Given the description of an element on the screen output the (x, y) to click on. 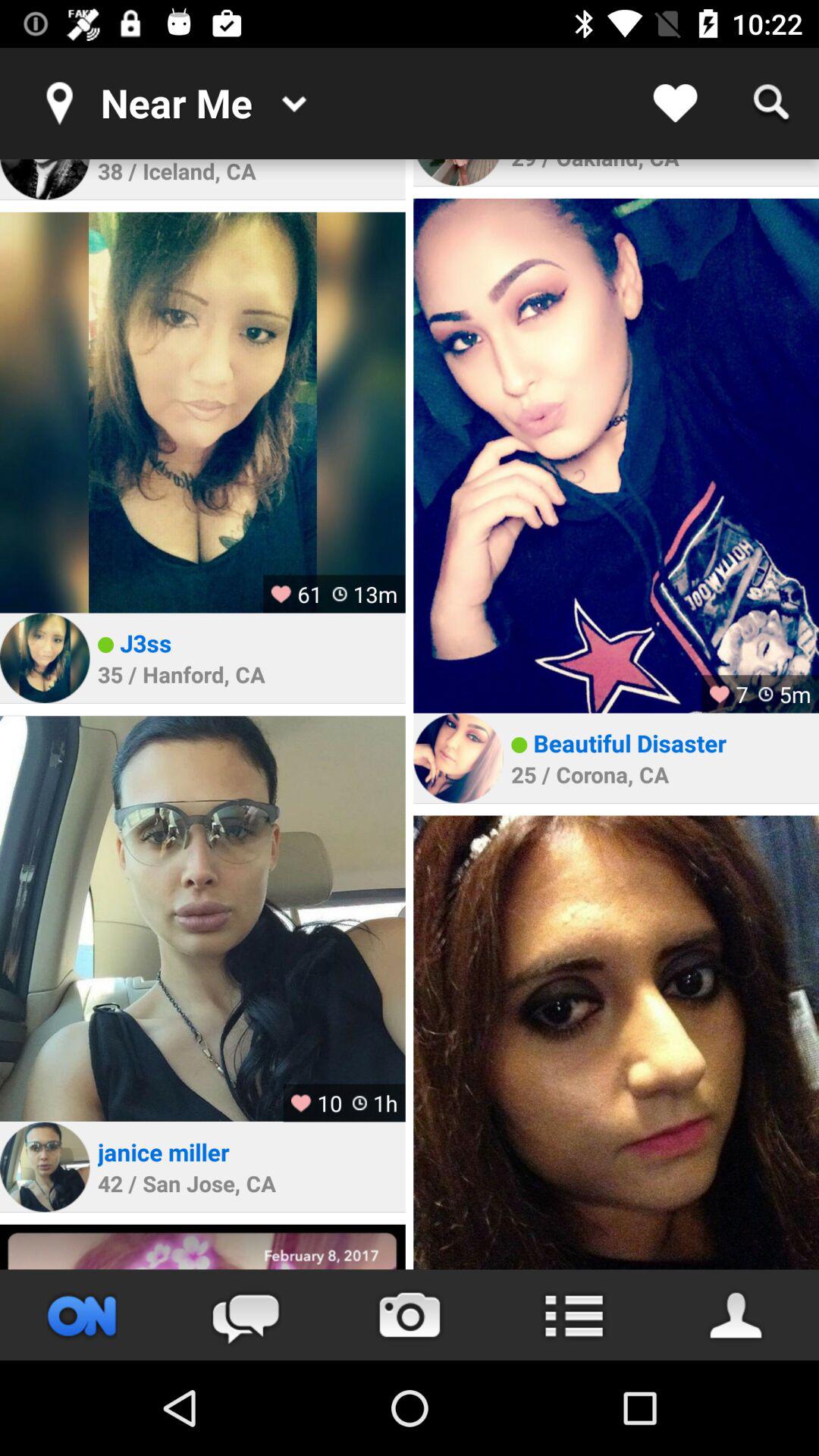
user profile (458, 172)
